Given the description of an element on the screen output the (x, y) to click on. 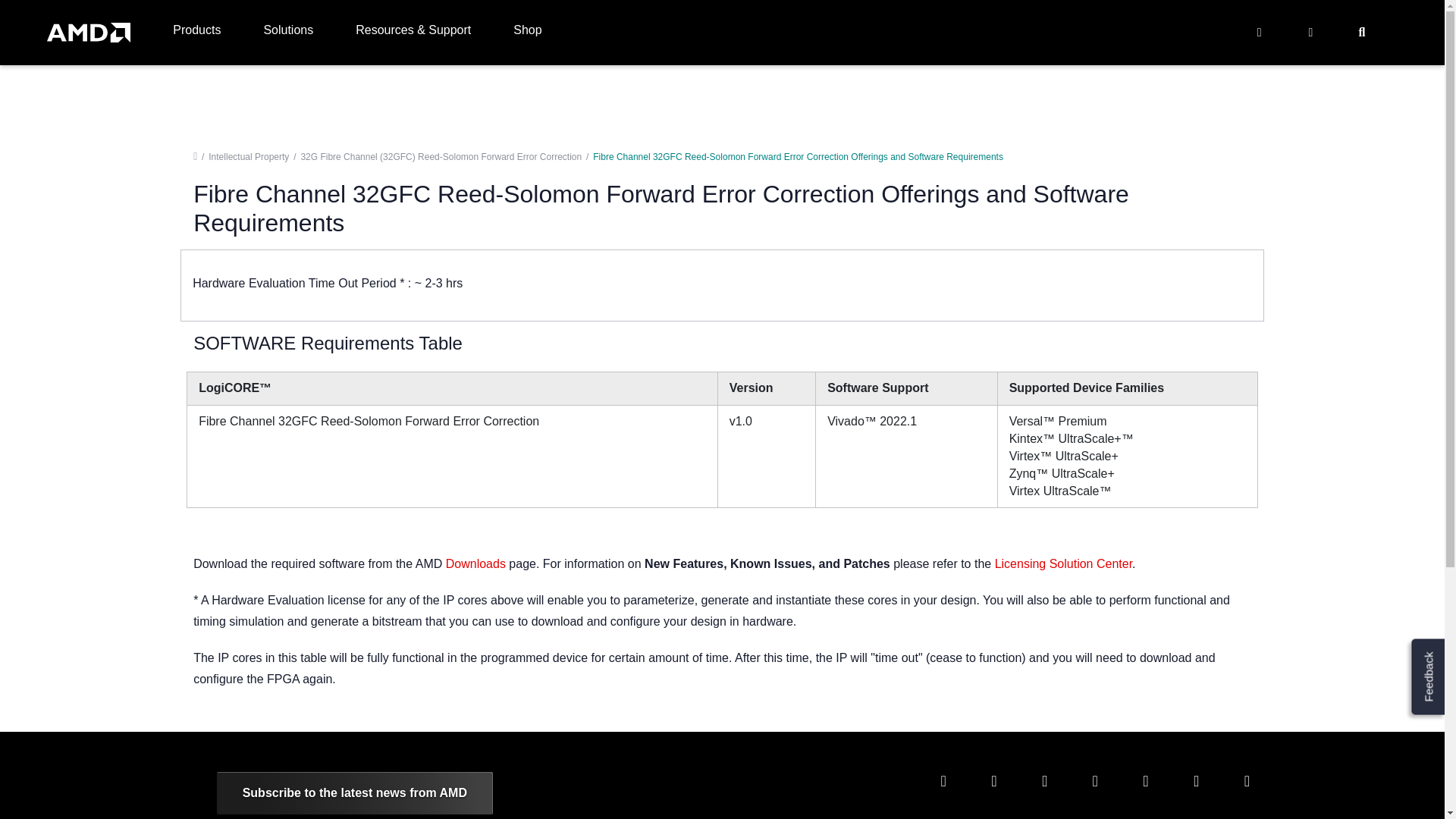
Intellectual Property (248, 156)
Products (197, 32)
AMD Logo (88, 32)
